Given the description of an element on the screen output the (x, y) to click on. 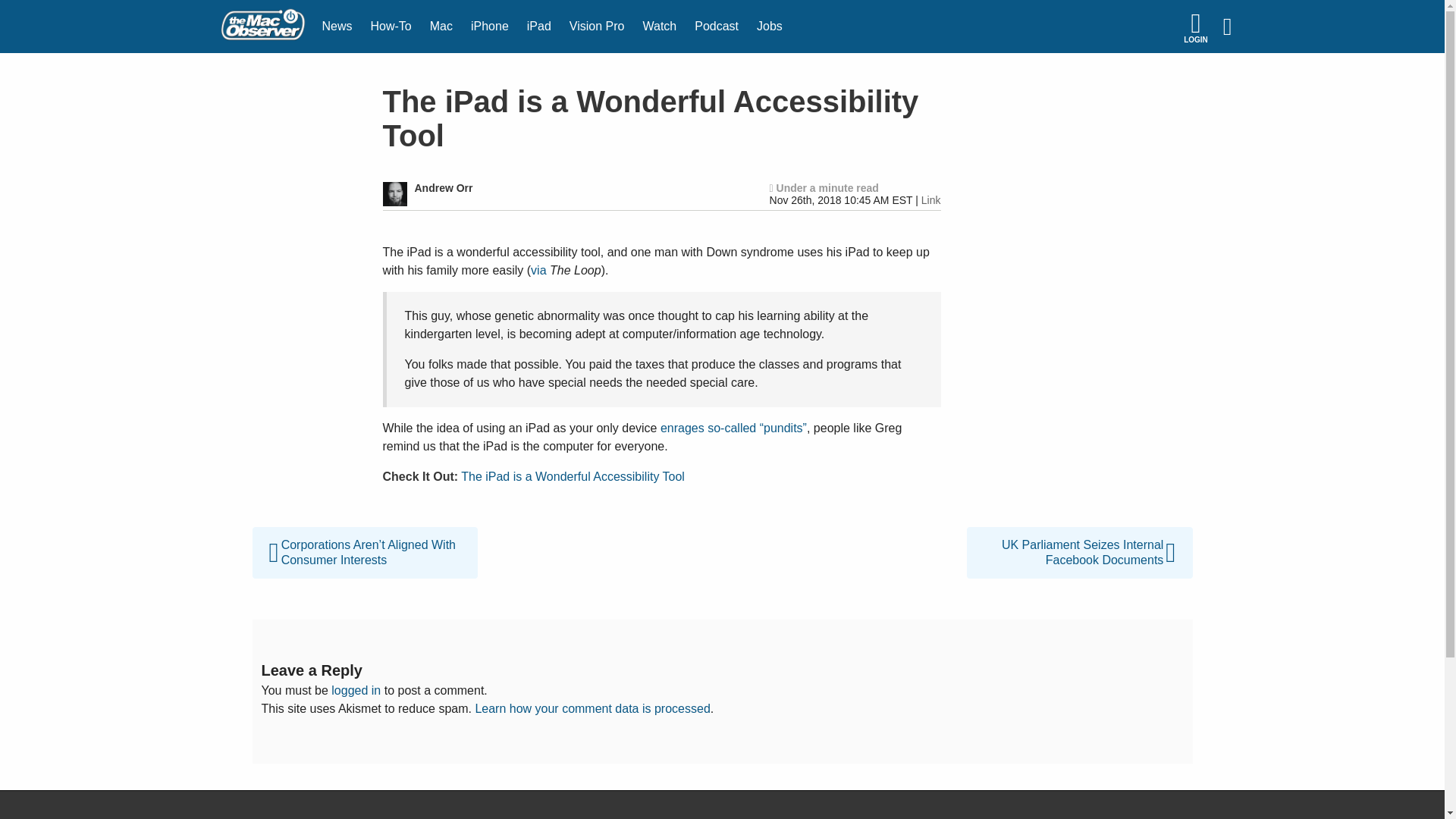
Podcast (716, 26)
via (538, 269)
News (337, 26)
Watch (659, 26)
Learn how your comment data is processed (592, 707)
Watch (659, 26)
UK Parliament Seizes Internal Facebook Documents (1079, 535)
Link (930, 200)
The Mac Observer (262, 26)
Vision Pro (596, 26)
